Given the description of an element on the screen output the (x, y) to click on. 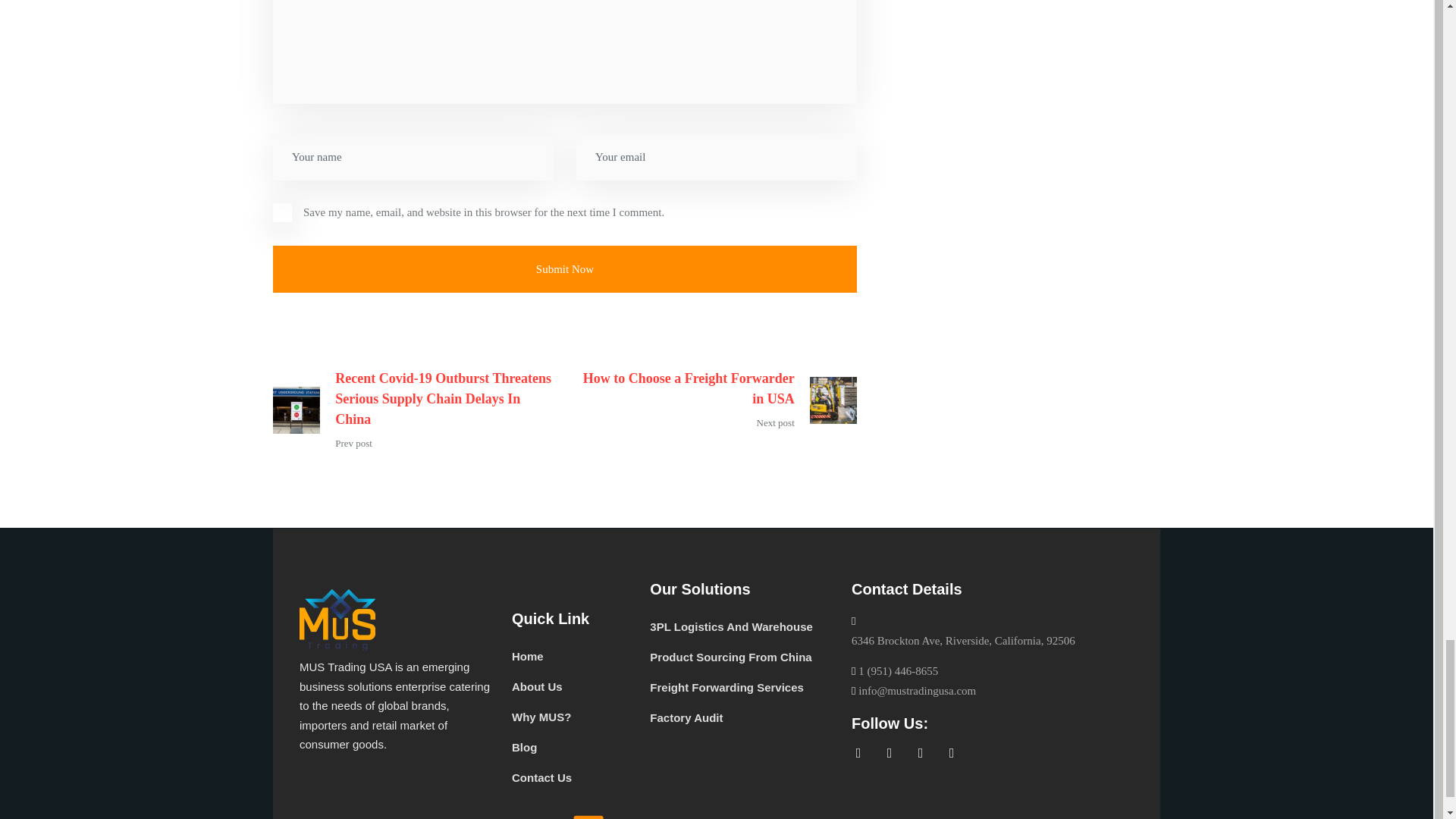
Submit Now (565, 269)
